Given the description of an element on the screen output the (x, y) to click on. 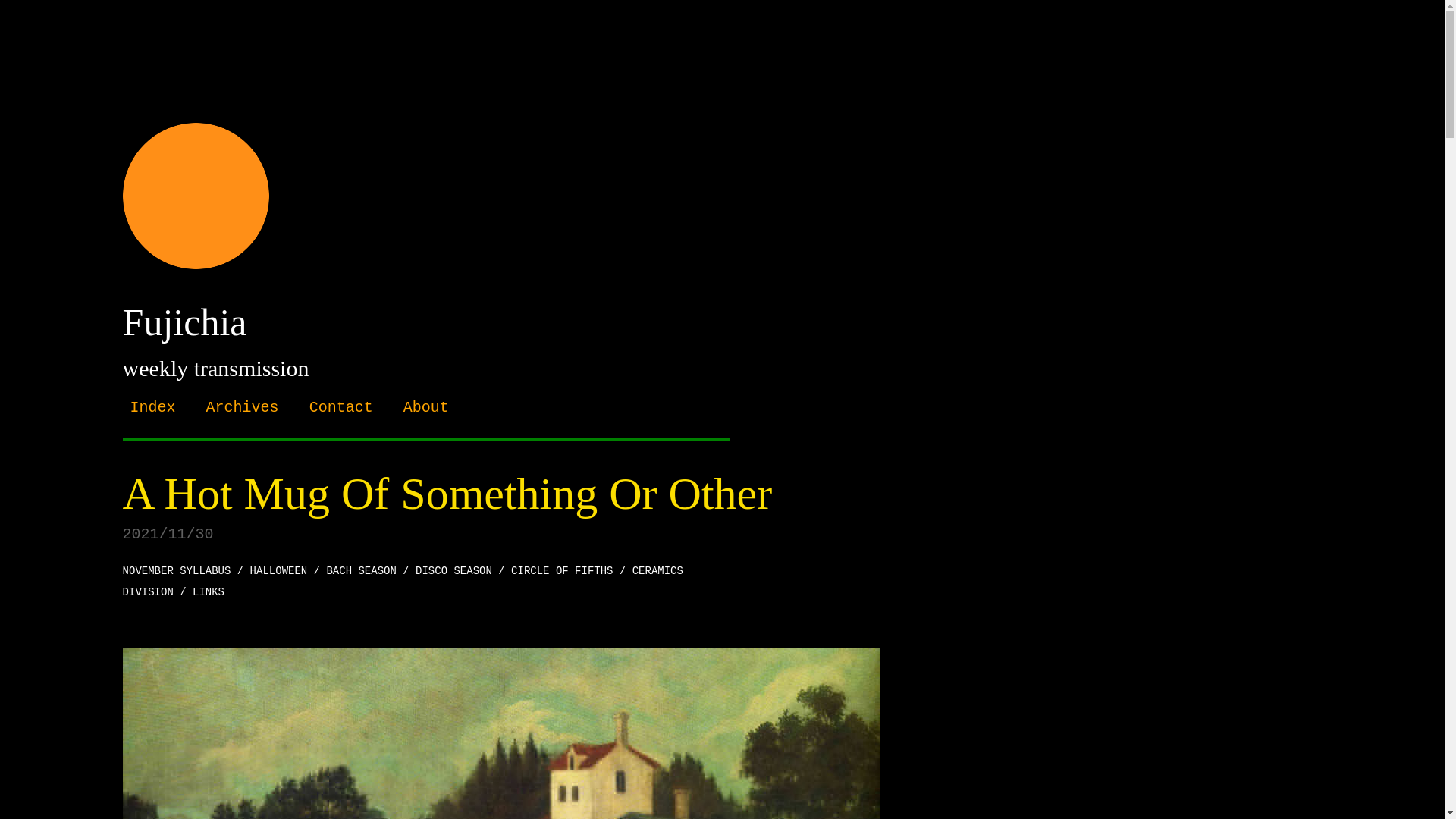
Archives (242, 407)
About (425, 407)
Contact (340, 407)
Index (153, 407)
